Given the description of an element on the screen output the (x, y) to click on. 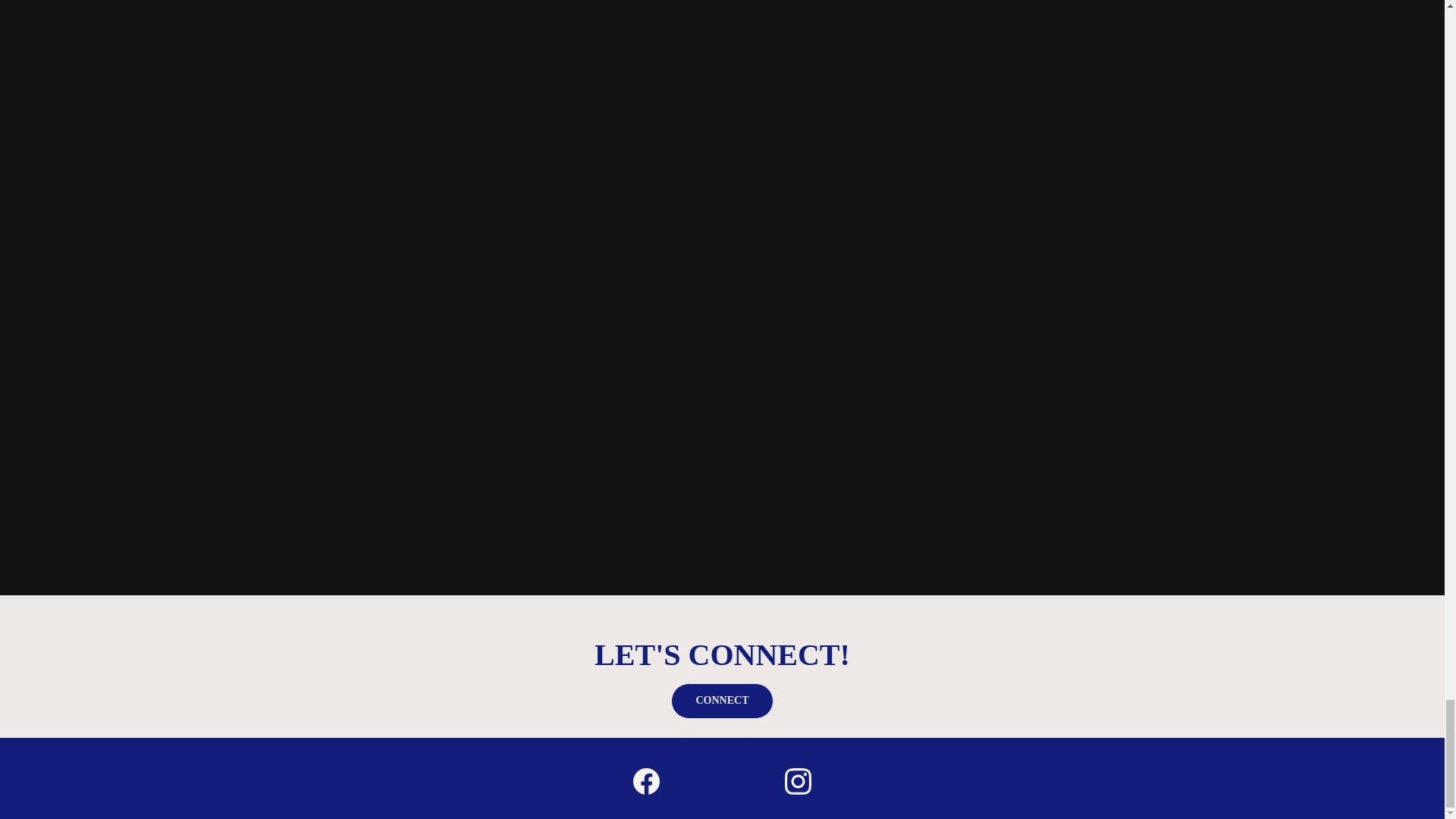
CONNECT (721, 701)
